Given the description of an element on the screen output the (x, y) to click on. 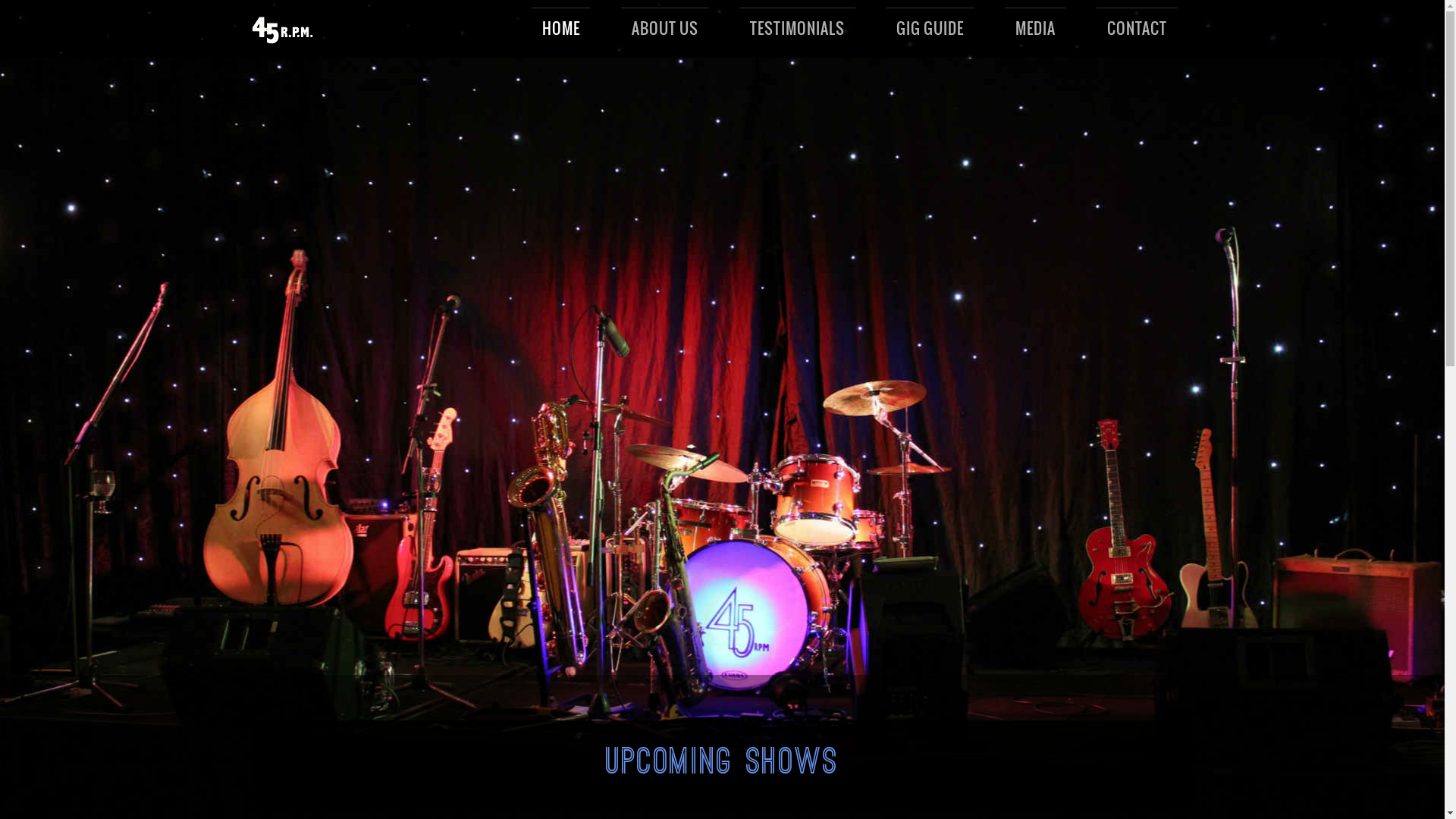
TESTIMONIALS Element type: text (797, 28)
ABOUT US Element type: text (665, 28)
GIG GUIDE Element type: text (929, 28)
CONTACT Element type: text (1136, 28)
MEDIA Element type: text (1035, 28)
HOME Element type: text (560, 28)
45rpm Element type: text (283, 30)
